Given the description of an element on the screen output the (x, y) to click on. 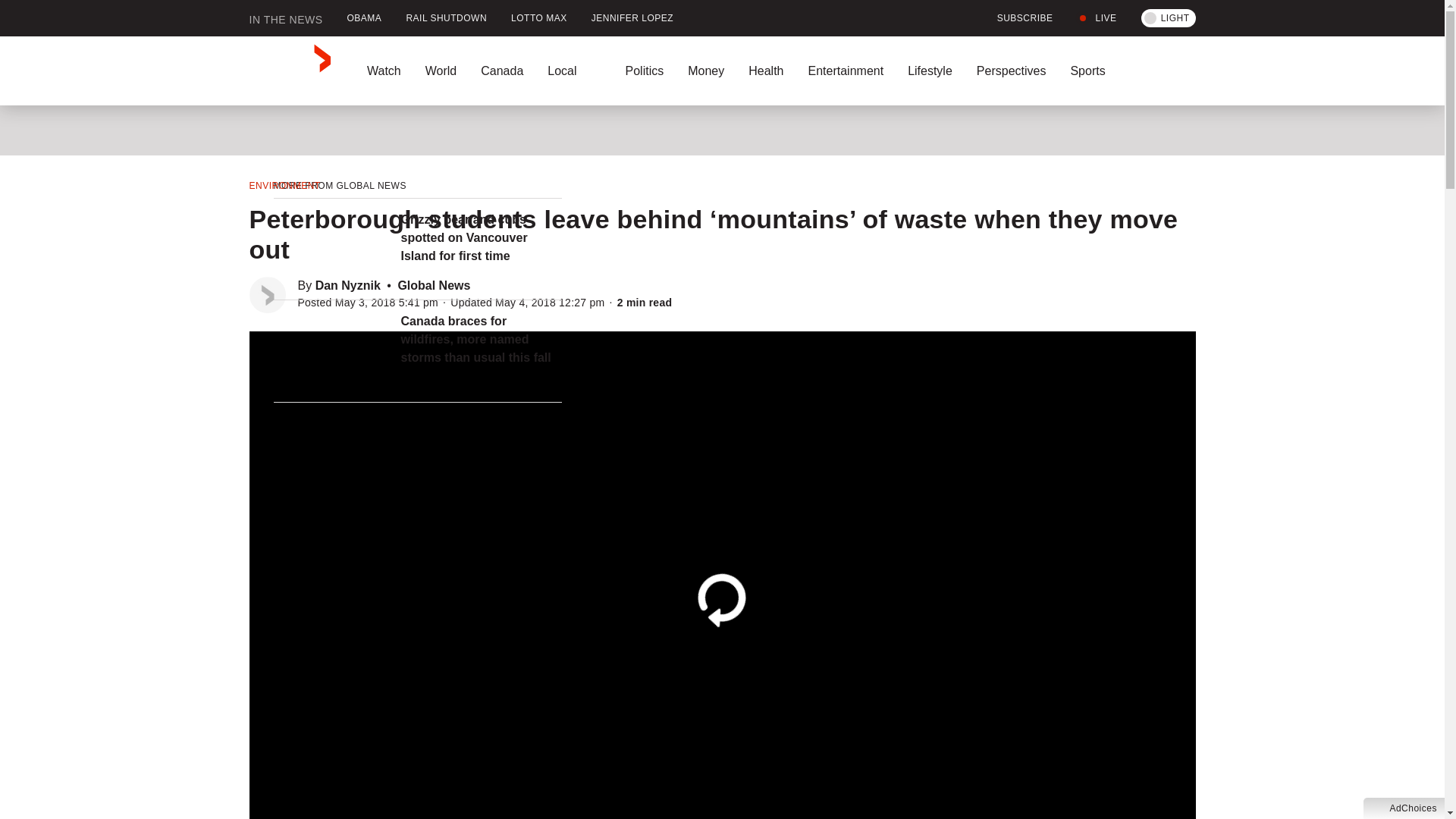
Lifestyle (929, 70)
GlobalNews home (289, 70)
Local (573, 70)
Perspectives (1010, 70)
RAIL SHUTDOWN (446, 18)
JENNIFER LOPEZ (632, 18)
SUBSCRIBE (1015, 18)
Entertainment (844, 70)
OBAMA (364, 18)
